Given the description of an element on the screen output the (x, y) to click on. 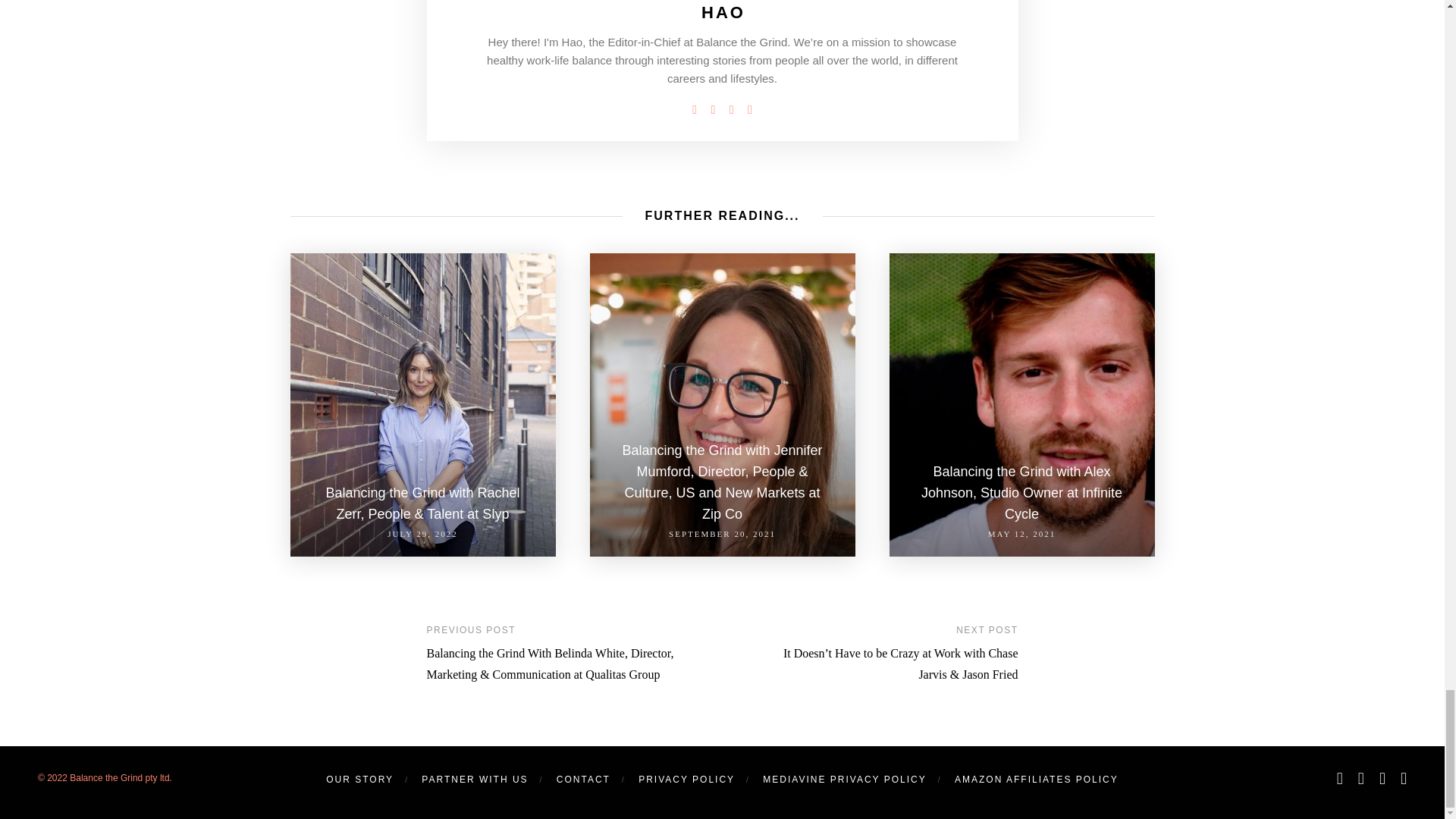
Posts by hao (723, 12)
